Given the description of an element on the screen output the (x, y) to click on. 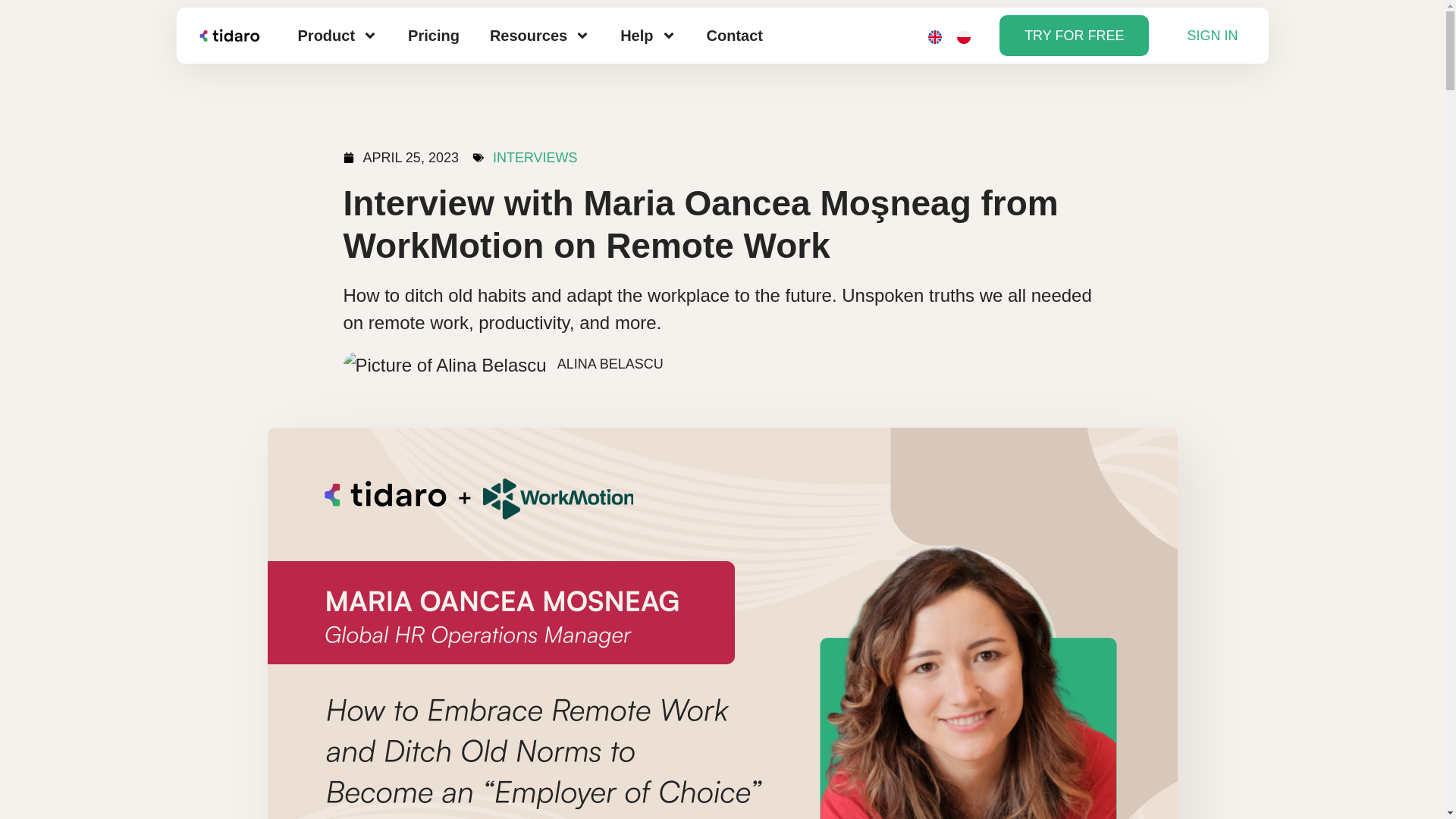
Contact (734, 35)
Pricing (433, 35)
Product (337, 35)
Help (647, 35)
Resources (539, 35)
